Given the description of an element on the screen output the (x, y) to click on. 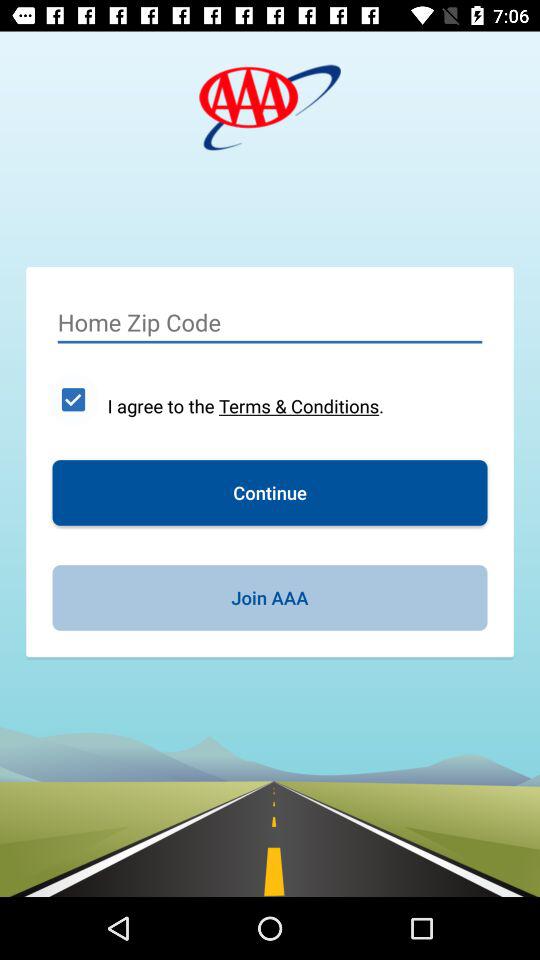
swipe to continue item (269, 492)
